Given the description of an element on the screen output the (x, y) to click on. 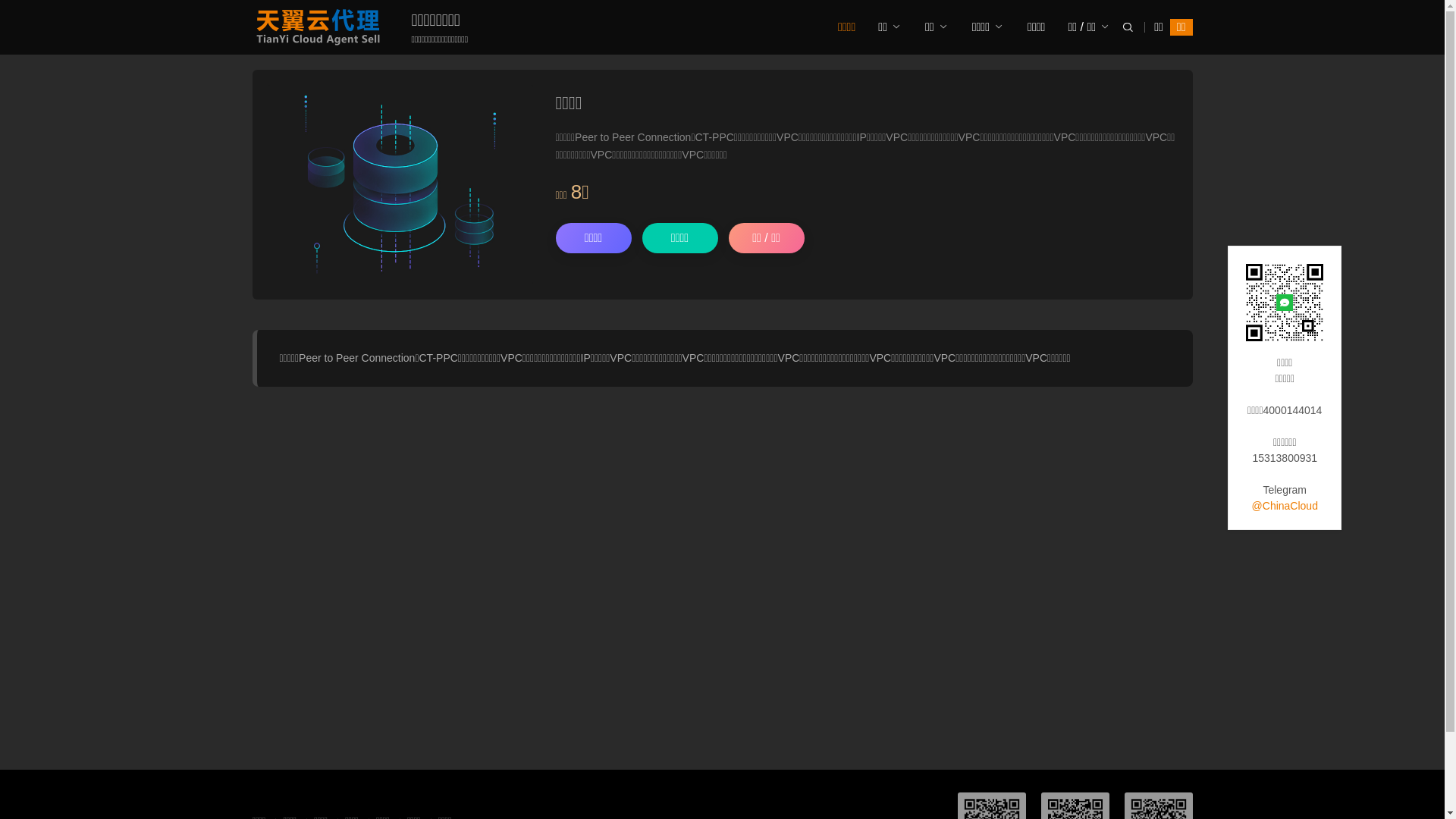
@ChinaCloud Element type: text (1284, 505)
